Given the description of an element on the screen output the (x, y) to click on. 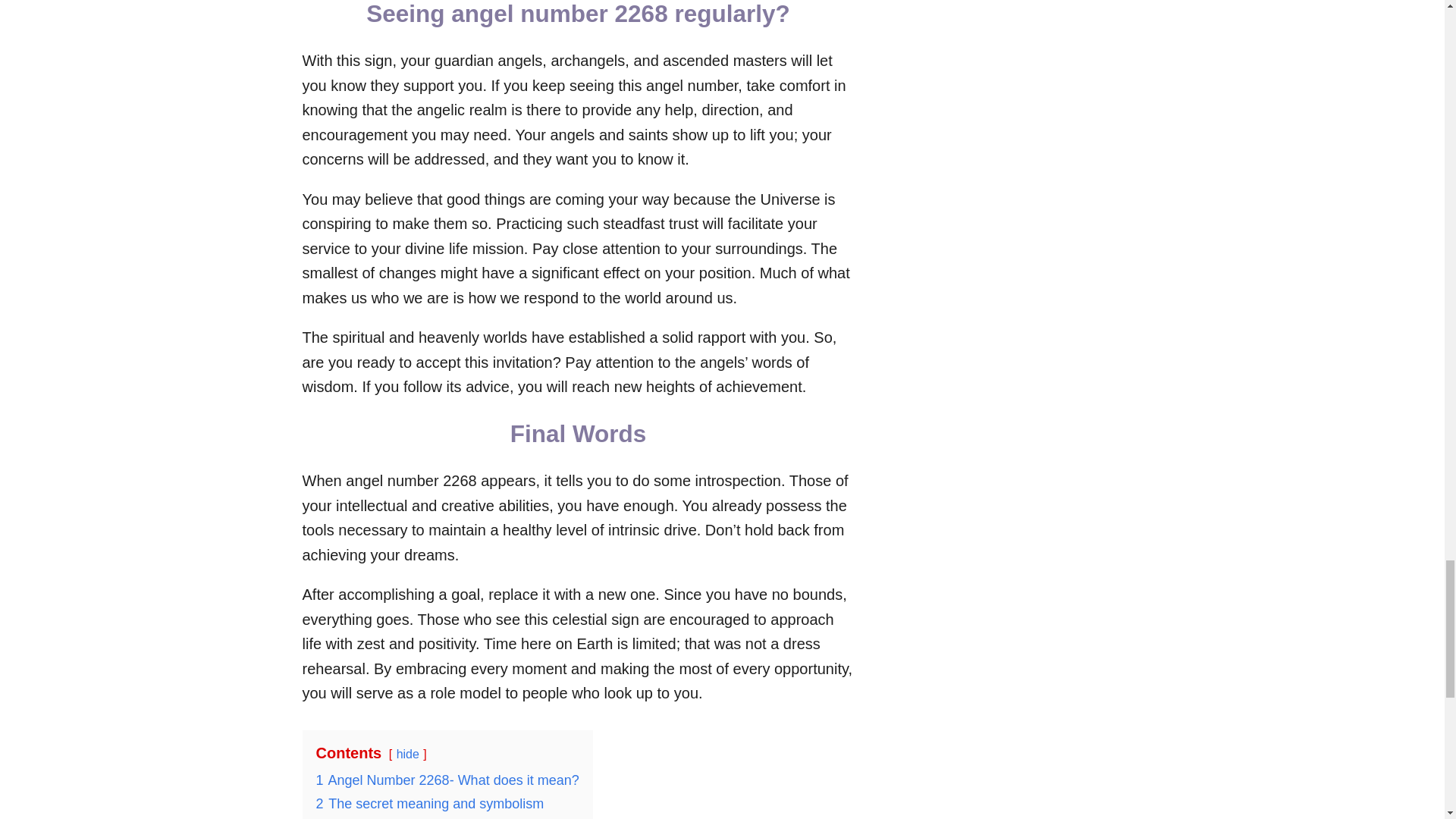
2 The secret meaning and symbolism (429, 803)
hide (407, 753)
1 Angel Number 2268- What does it mean? (446, 780)
